Given the description of an element on the screen output the (x, y) to click on. 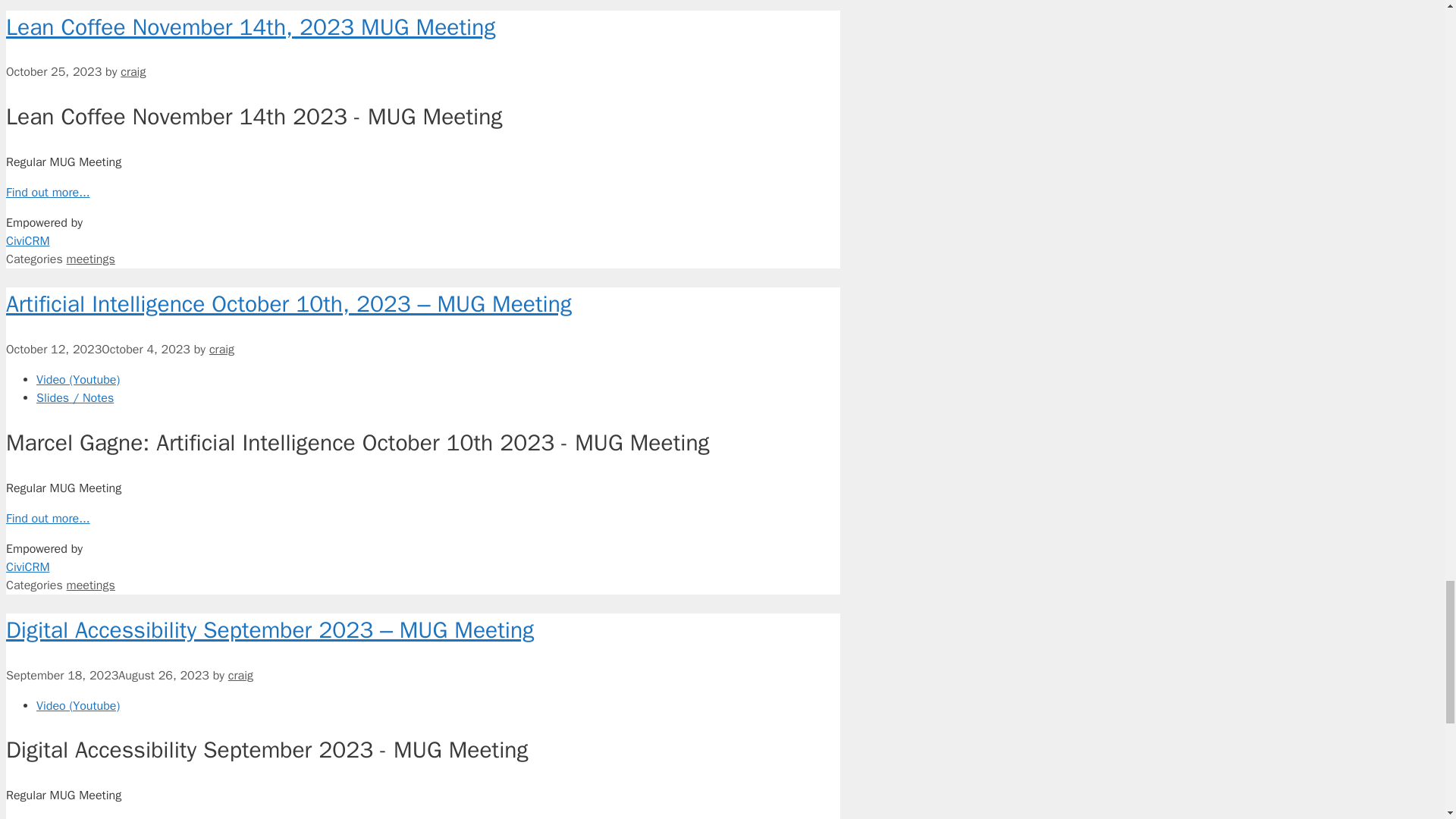
View all posts by craig (132, 71)
CiviCRM.org - Growing and Sustaining Relationships (422, 574)
CiviCRM.org - Growing and Sustaining Relationships (422, 248)
View all posts by craig (221, 349)
